Given the description of an element on the screen output the (x, y) to click on. 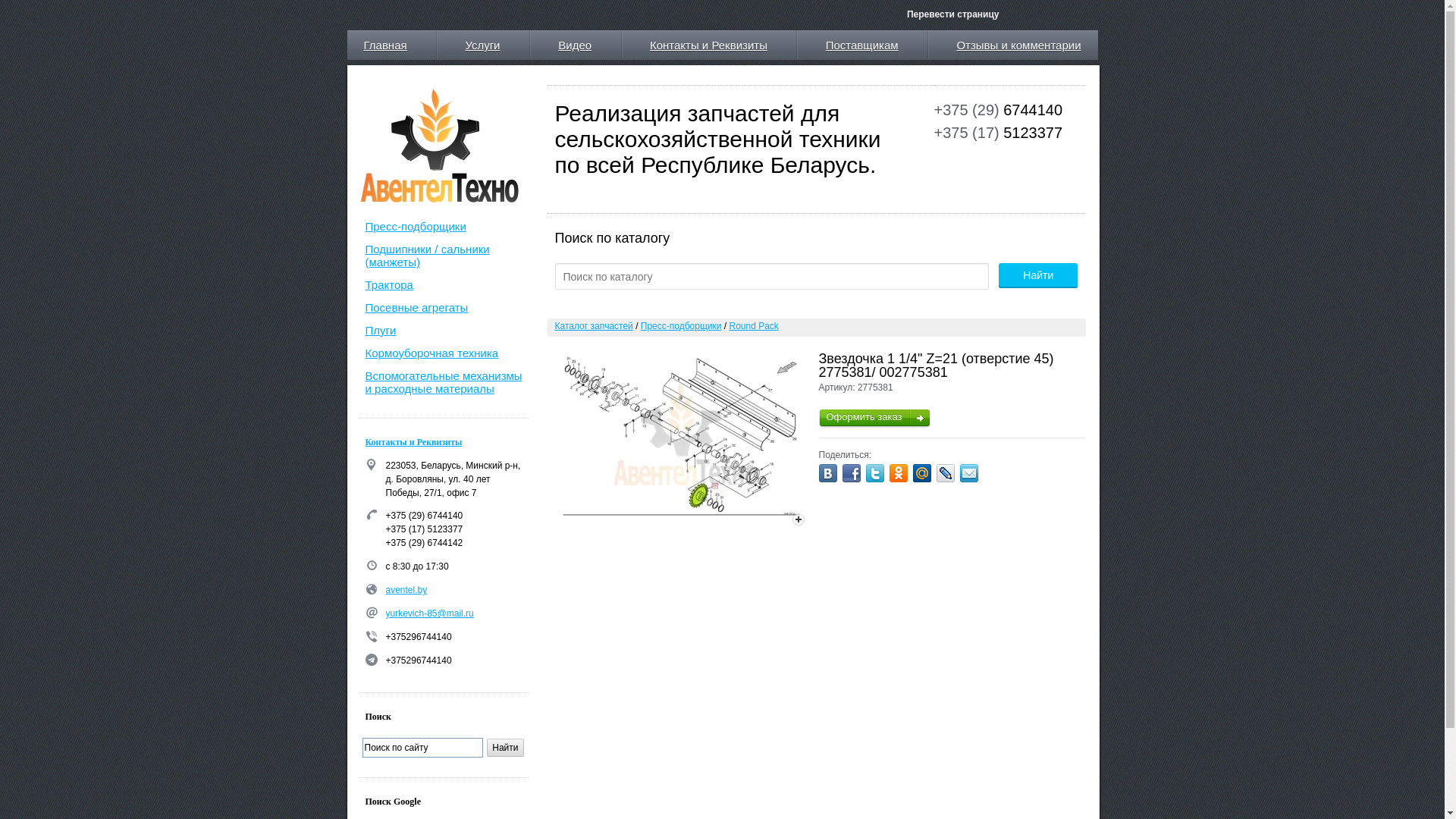
aventel.by Element type: text (405, 589)
Round Pack Element type: text (753, 325)
yurkevich-85@mail.ru Element type: text (429, 613)
Viber Element type: hover (371, 636)
E-mail Element type: hover (371, 612)
Telegram Element type: hover (371, 659)
